Given the description of an element on the screen output the (x, y) to click on. 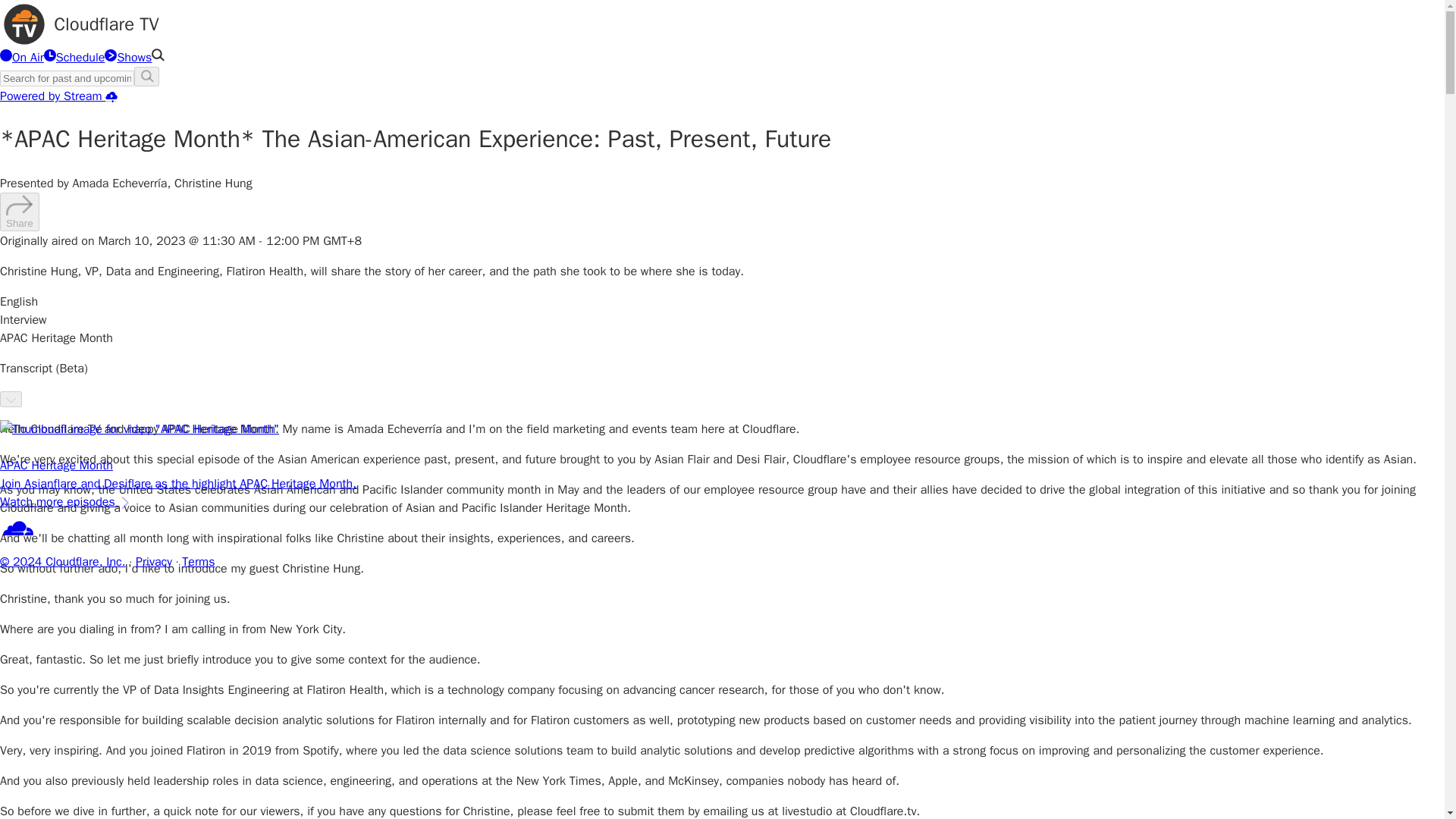
Powered by Stream (58, 96)
Privacy (153, 561)
Shows (127, 57)
Terms (198, 561)
Schedule (73, 57)
Share (19, 211)
On Air (21, 57)
